Given the description of an element on the screen output the (x, y) to click on. 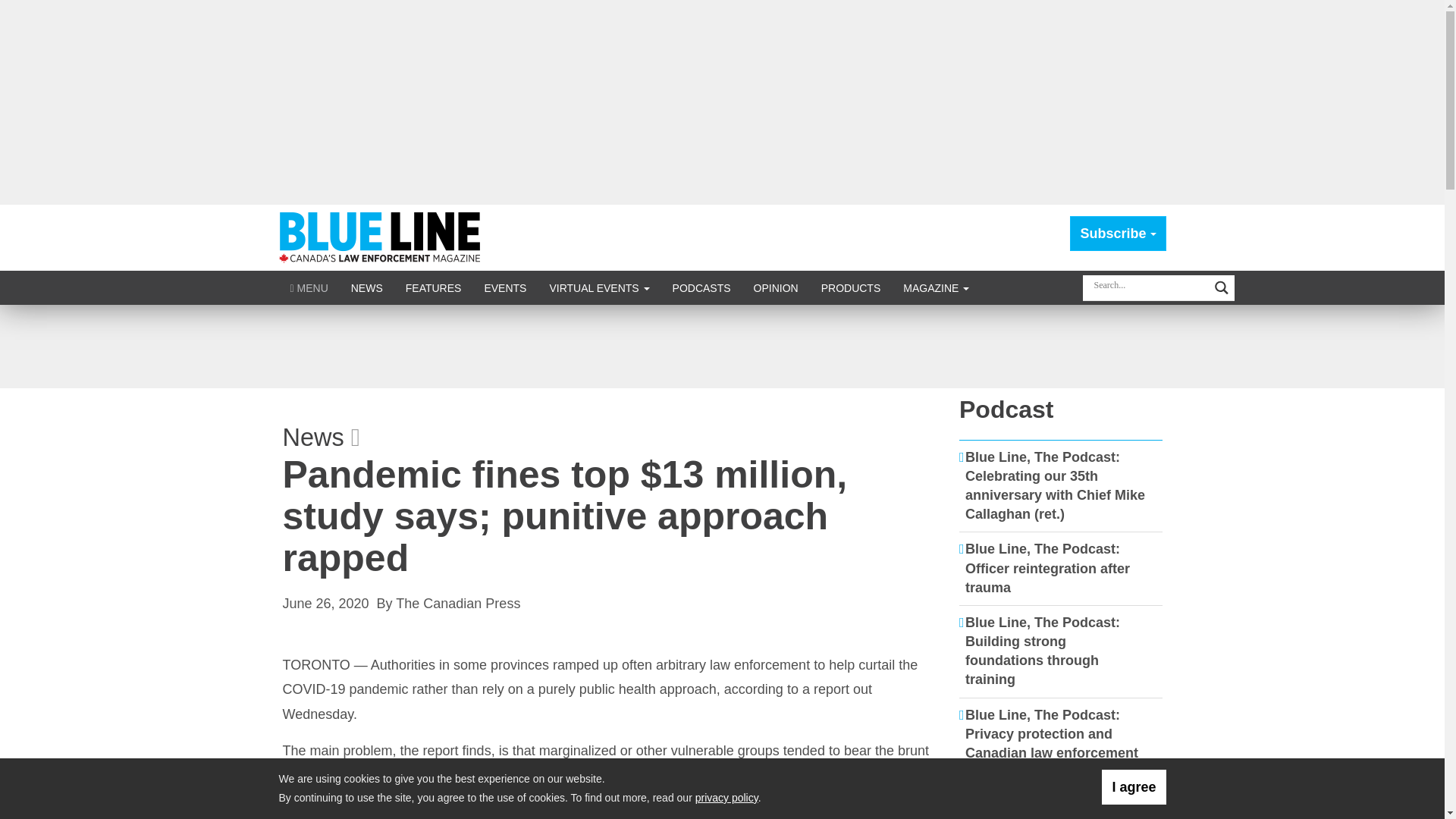
MAGAZINE (935, 287)
OPINION (775, 287)
VIRTUAL EVENTS (599, 287)
Blue Line (381, 236)
PODCASTS (701, 287)
NEWS (366, 287)
PRODUCTS (850, 287)
Subscribe (1118, 233)
3rd party ad content (721, 346)
MENU (309, 287)
EVENTS (504, 287)
FEATURES (433, 287)
Click to show site navigation (309, 287)
